Given the description of an element on the screen output the (x, y) to click on. 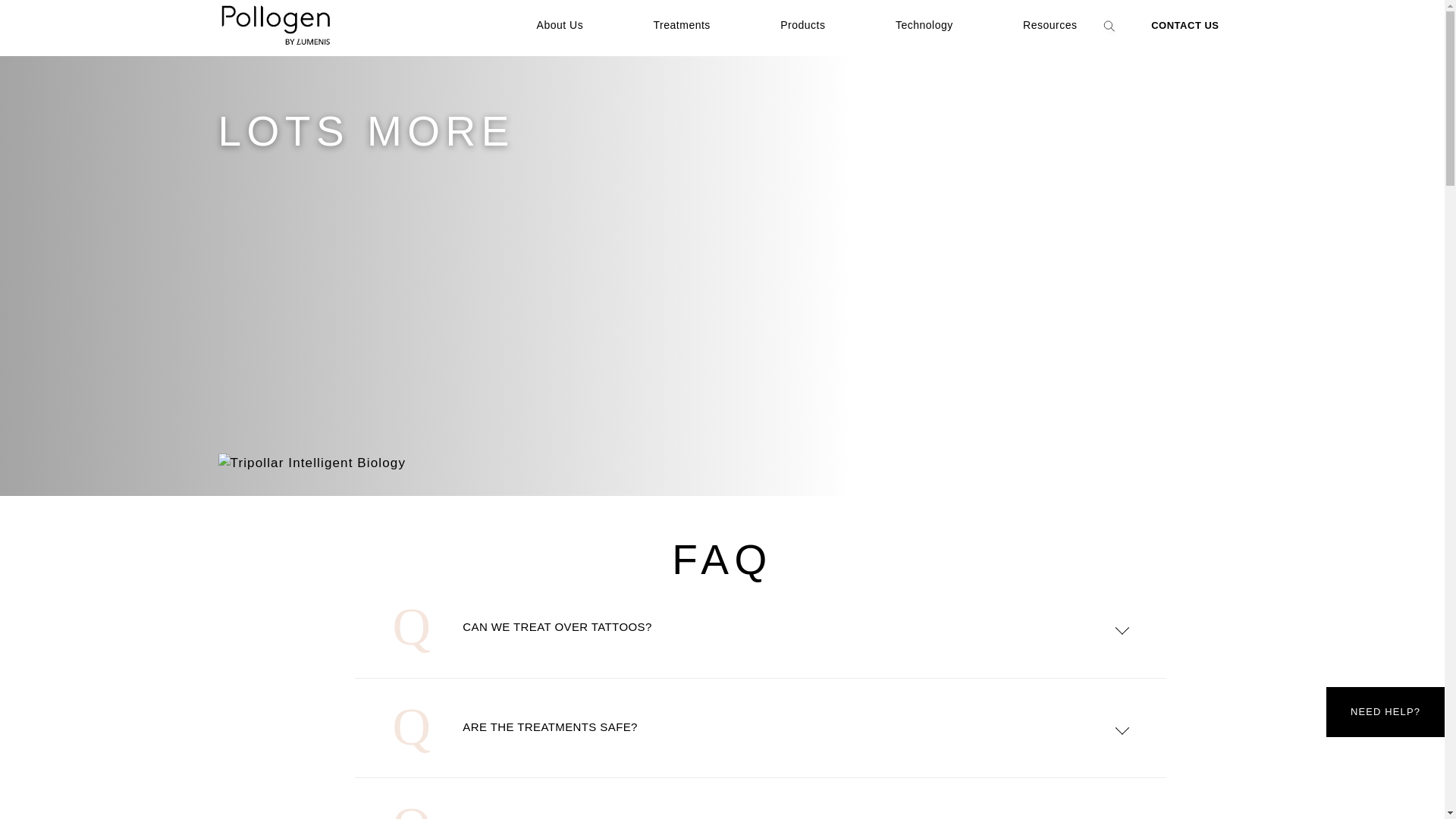
Technology (924, 24)
Treatments (681, 24)
CONTACT US (1183, 25)
Resources (1050, 24)
Products (802, 24)
About Us (560, 24)
